Given the description of an element on the screen output the (x, y) to click on. 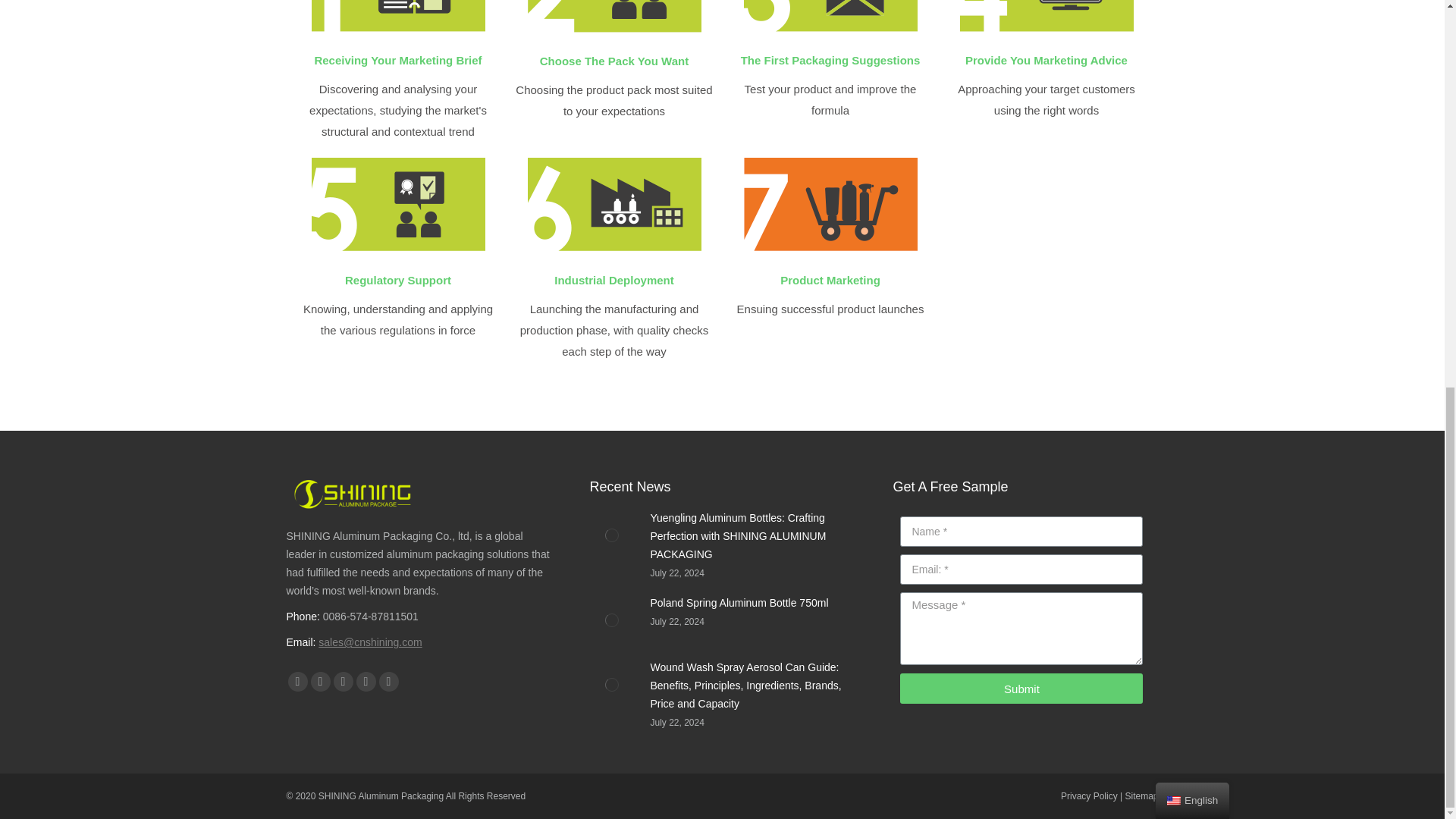
Facebook page opens in new window (297, 681)
Pinterest page opens in new window (365, 681)
Linkedin page opens in new window (343, 681)
YouTube page opens in new window (320, 681)
